Given the description of an element on the screen output the (x, y) to click on. 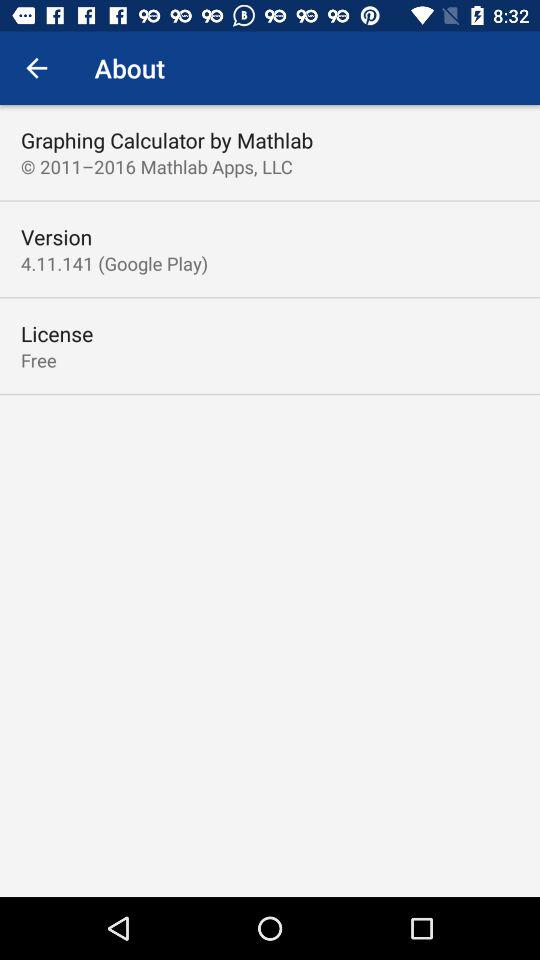
press the graphing calculator by (167, 139)
